Given the description of an element on the screen output the (x, y) to click on. 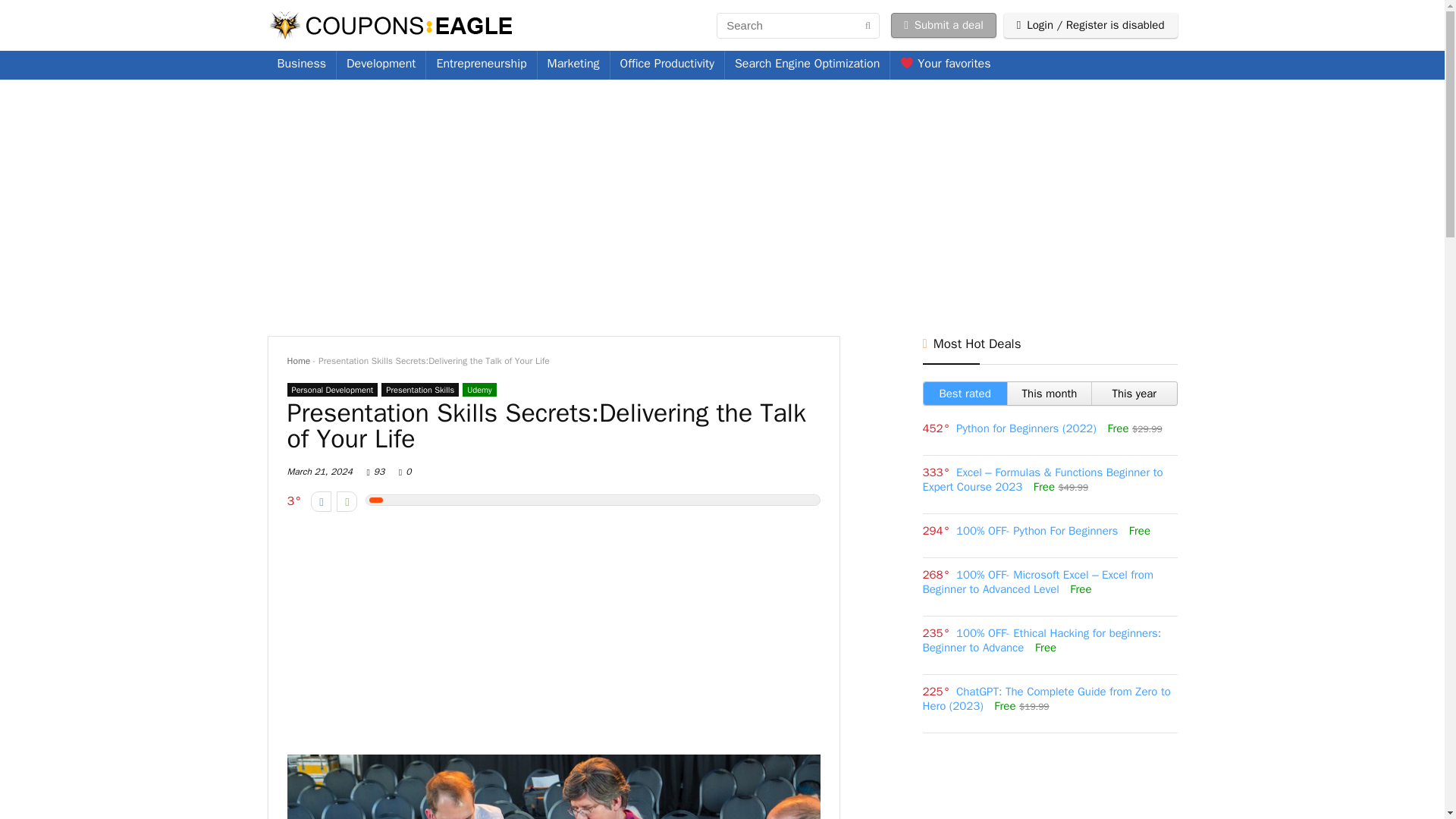
View all posts in Presentation Skills (419, 389)
Development (380, 64)
Vote down (321, 501)
Submit a deal (943, 25)
Business (301, 64)
View all posts in Udemy (479, 389)
Vote up (346, 501)
Marketing (573, 64)
Entrepreneurship (480, 64)
Presentation Skills (419, 389)
